Given the description of an element on the screen output the (x, y) to click on. 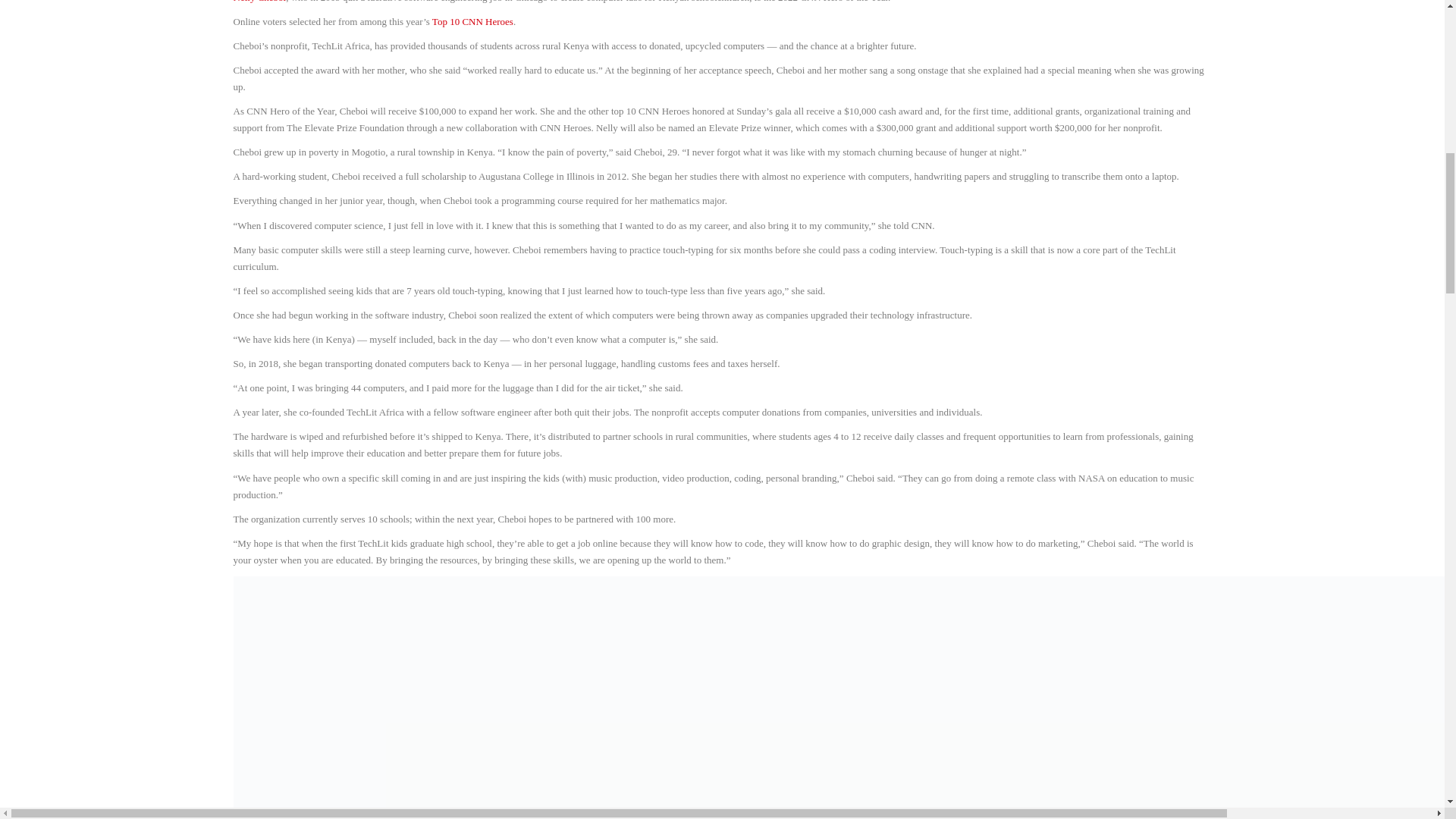
Nelly Cheboi (259, 1)
Top 10 CNN Heroes (472, 21)
